Given the description of an element on the screen output the (x, y) to click on. 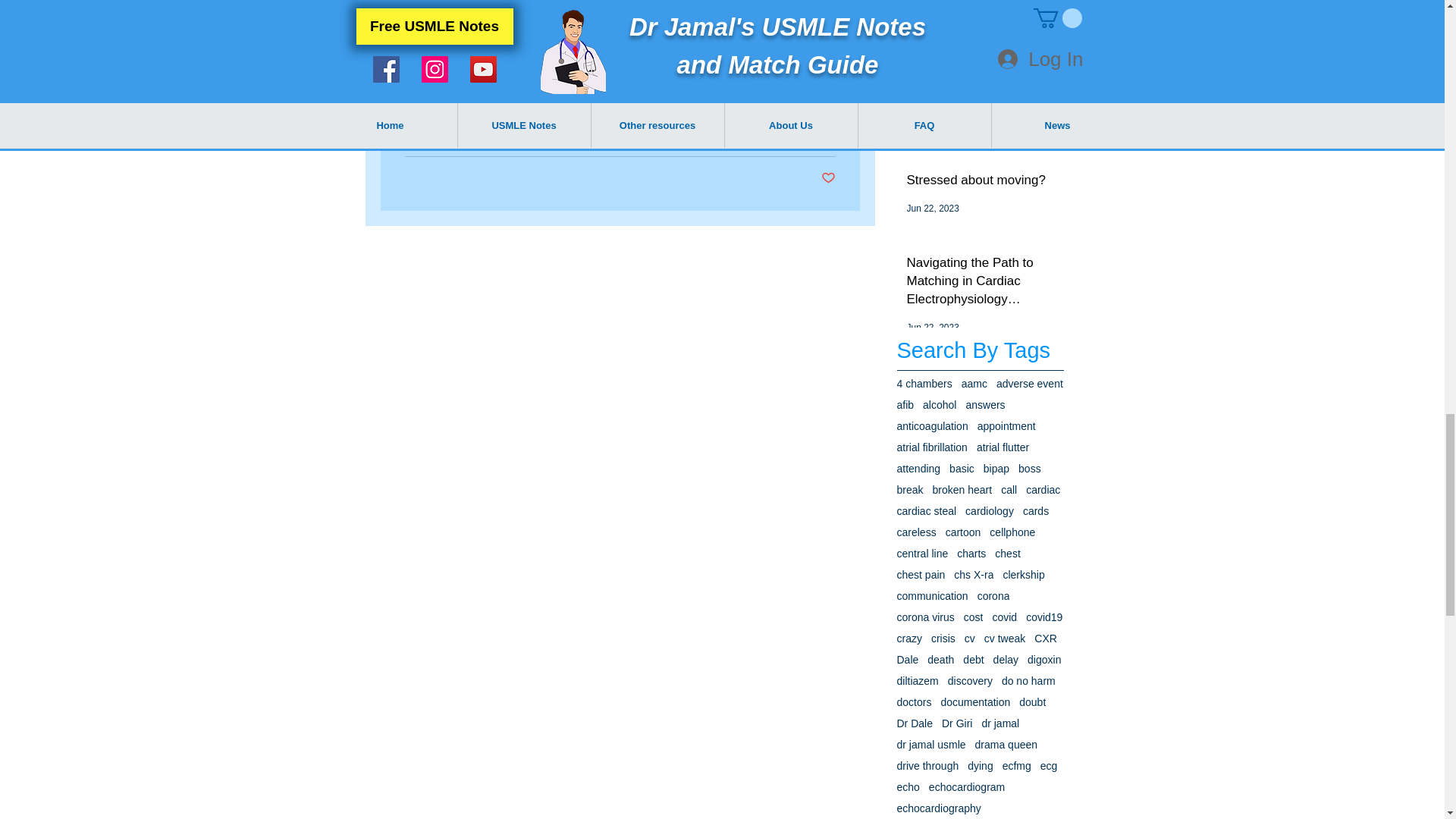
Greatest Quotes to learn from (980, 109)
documentation (583, 79)
Jun 22, 2023 (933, 79)
Jun 22, 2023 (933, 208)
Post not marked as liked (827, 178)
Jun 22, 2023 (933, 143)
Jun 22, 2023 (933, 327)
Stressed about moving? (980, 183)
progress (506, 79)
soap (459, 79)
notes (420, 79)
